Given the description of an element on the screen output the (x, y) to click on. 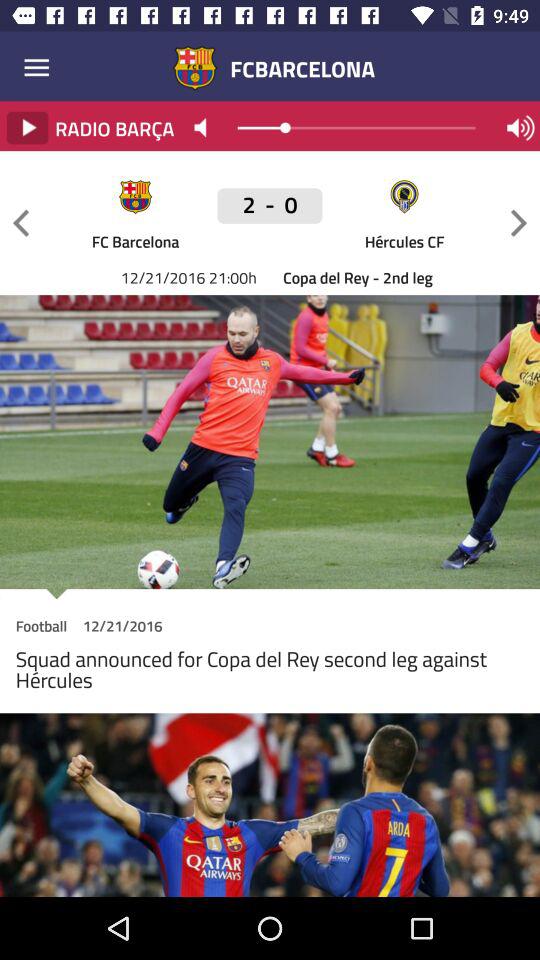
turn off the item below football item (270, 674)
